Given the description of an element on the screen output the (x, y) to click on. 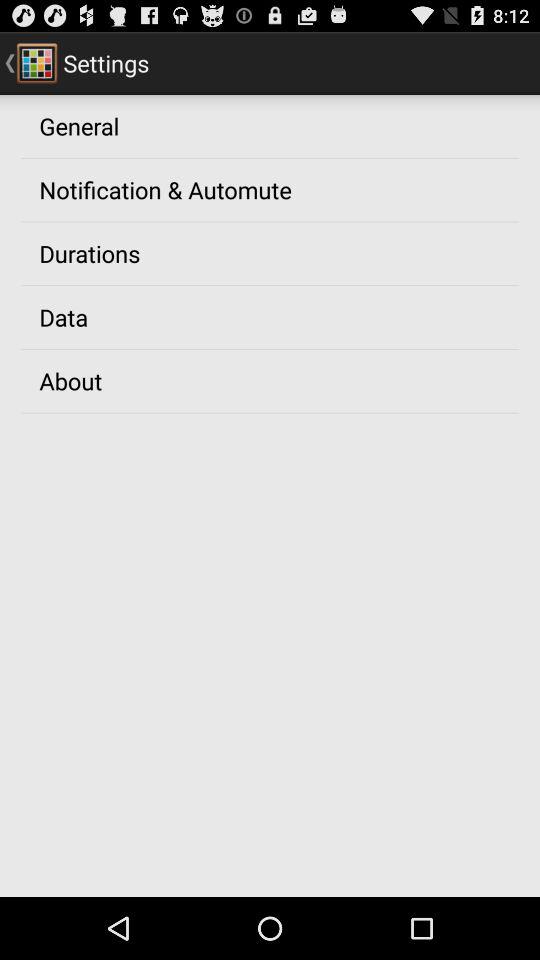
jump until about icon (70, 380)
